Given the description of an element on the screen output the (x, y) to click on. 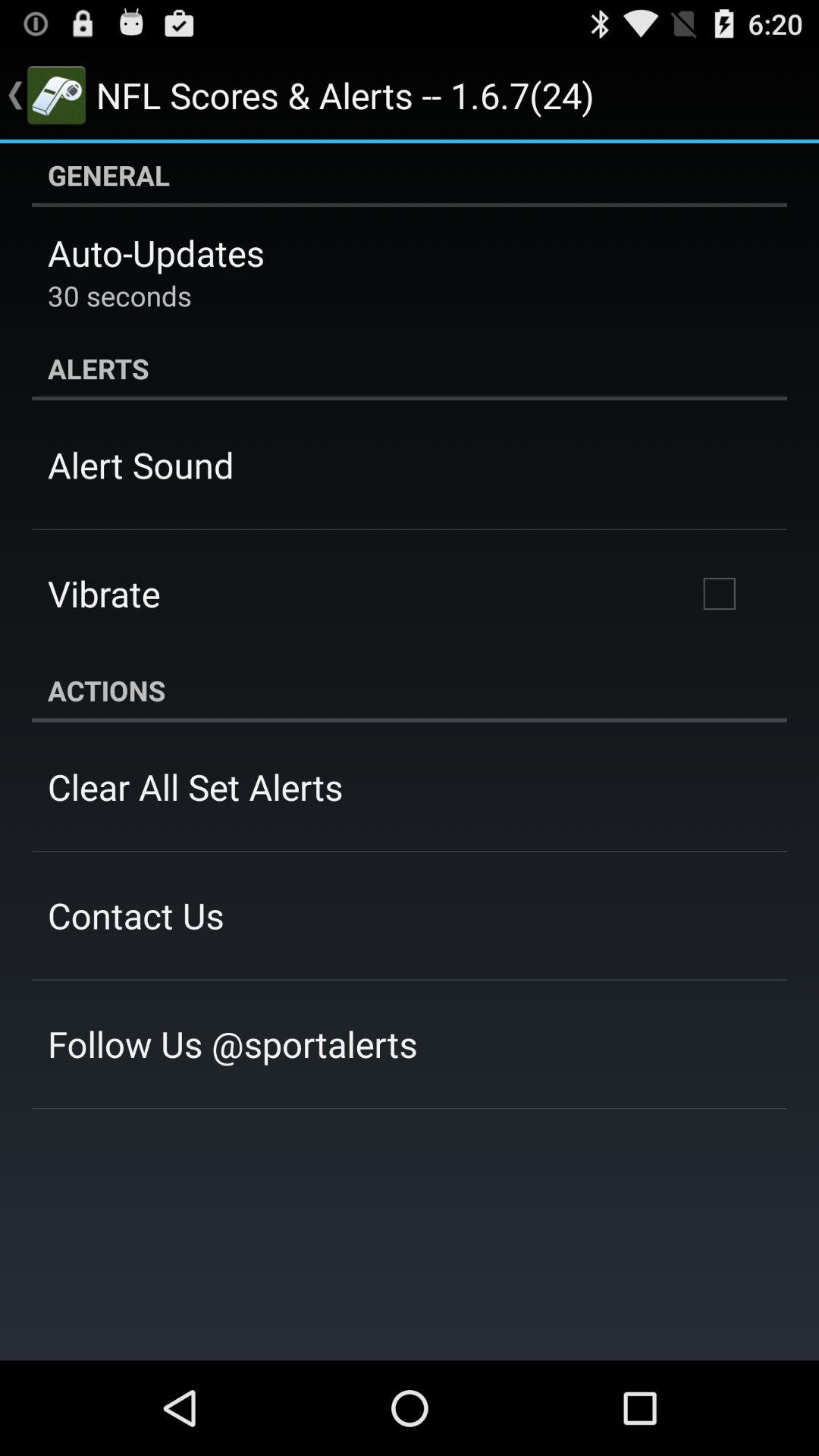
select the vibrate icon (103, 593)
